Given the description of an element on the screen output the (x, y) to click on. 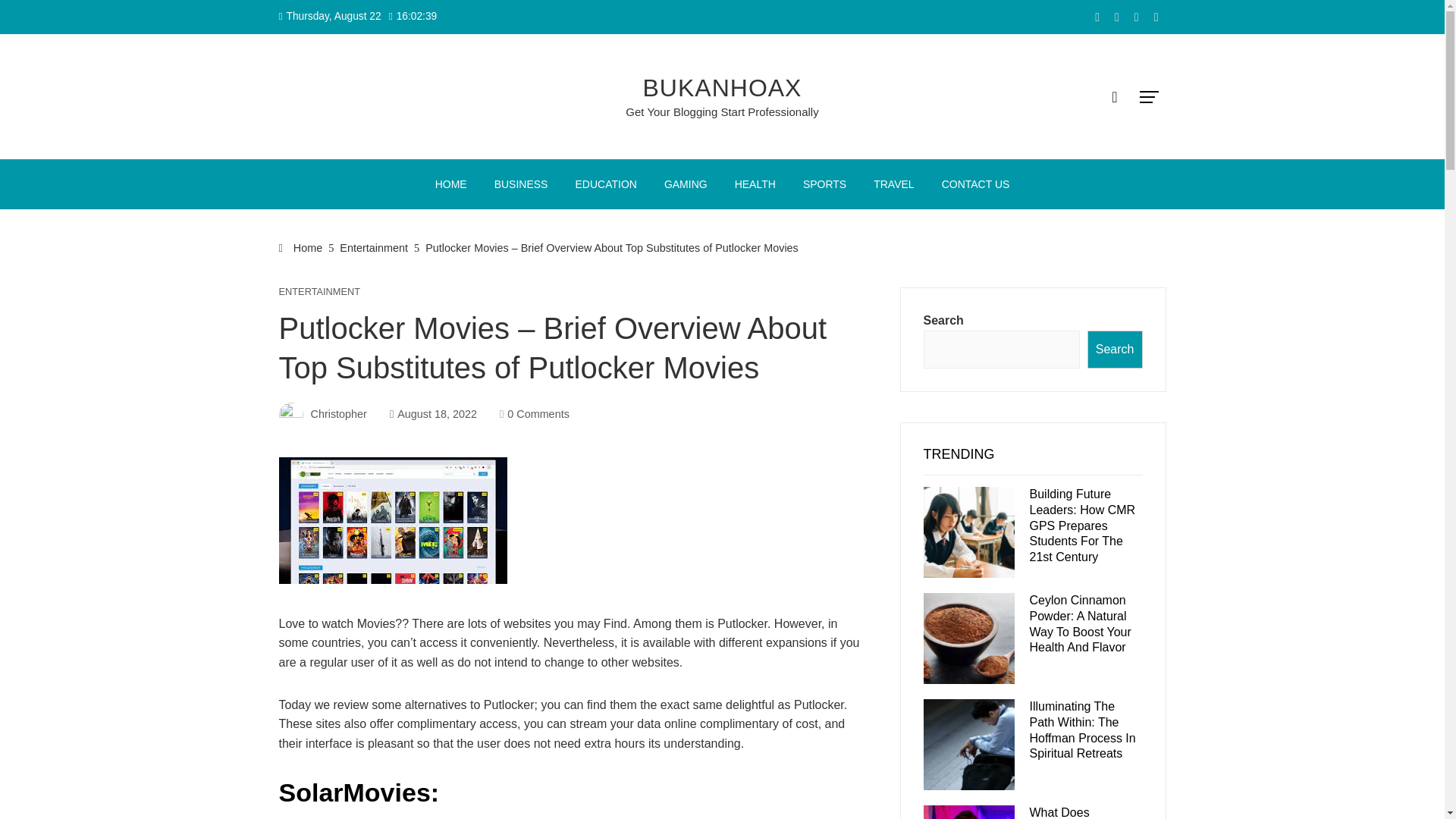
BUKANHOAX (722, 87)
GAMING (685, 183)
Entertainment (373, 247)
BUSINESS (521, 183)
SPORTS (824, 183)
HEALTH (755, 183)
HOME (451, 183)
CONTACT US (976, 183)
EDUCATION (605, 183)
Get Your Blogging Start Professionally (722, 111)
